Given the description of an element on the screen output the (x, y) to click on. 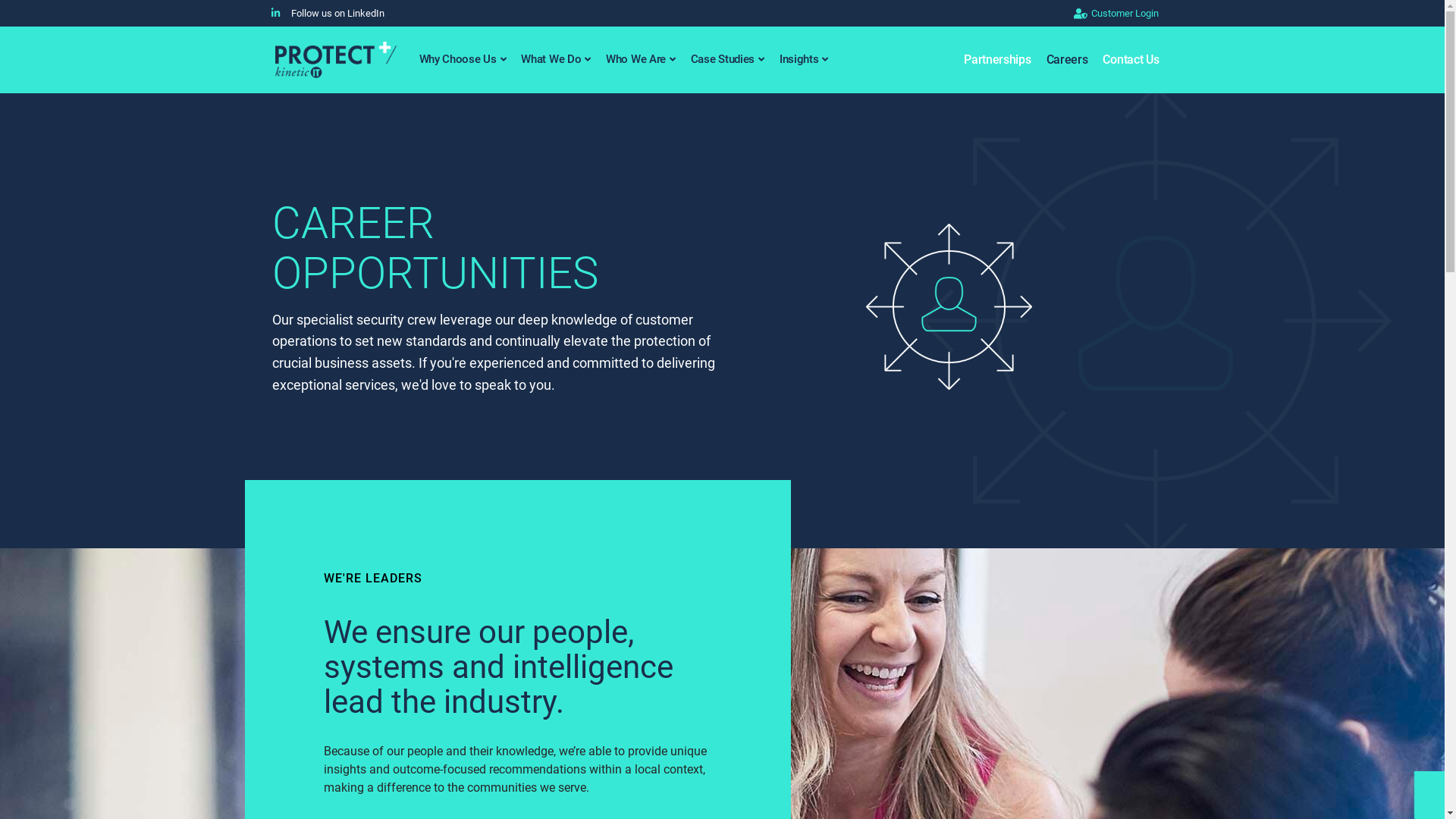
Careers 7 Element type: hover (949, 306)
Case Studies Element type: text (727, 59)
Who We Are Element type: text (640, 59)
Customer Login Element type: text (1016, 13)
Contact Us Element type: text (1130, 59)
Careers Element type: text (1066, 59)
Insights Element type: text (803, 59)
Follow us on LinkedIn Element type: text (324, 13)
Partnerships Element type: text (997, 59)
What We Do Element type: text (555, 59)
Why Choose Us Element type: text (462, 59)
